Given the description of an element on the screen output the (x, y) to click on. 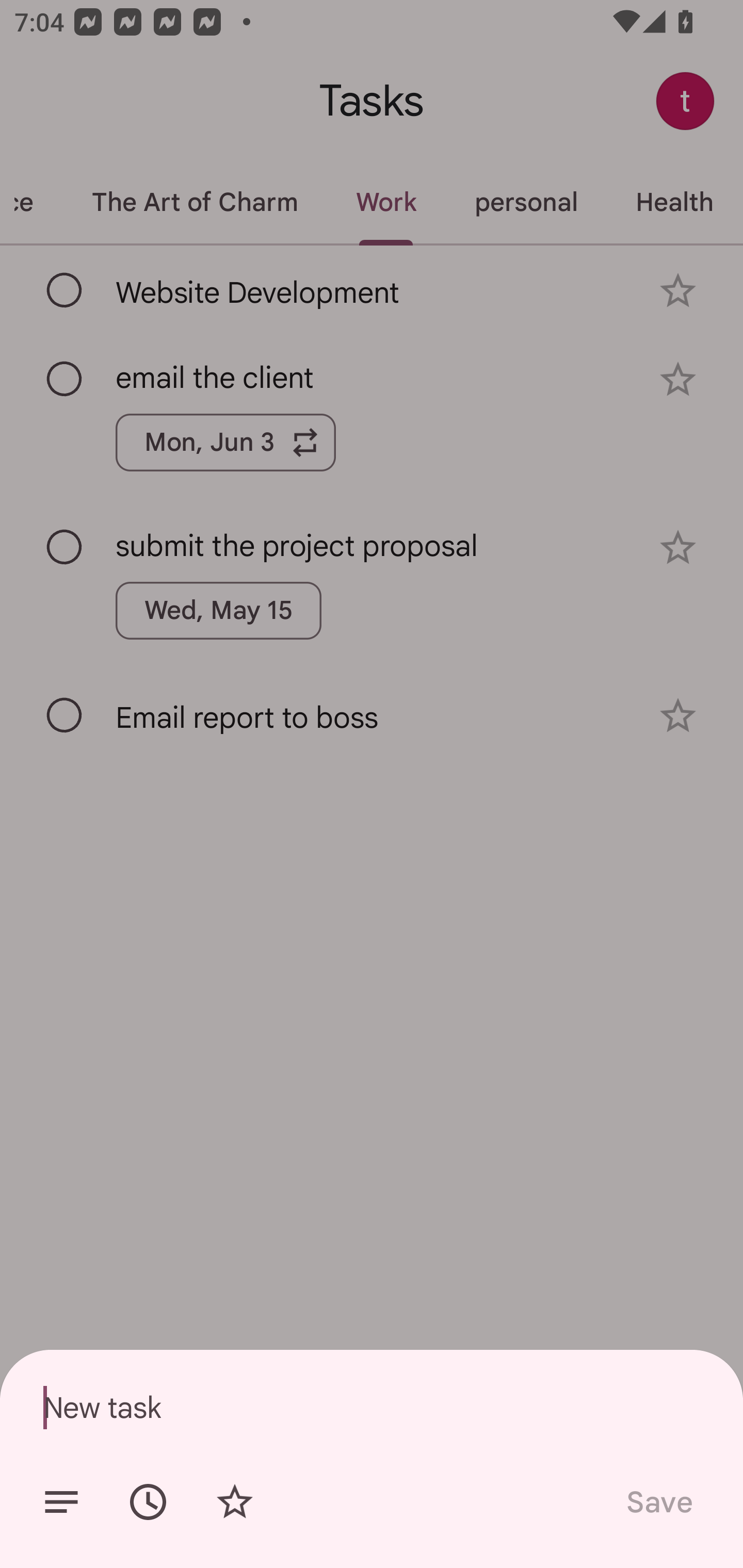
New task (371, 1407)
Save (659, 1501)
Add details (60, 1501)
Set date/time (147, 1501)
Add star (234, 1501)
